Given the description of an element on the screen output the (x, y) to click on. 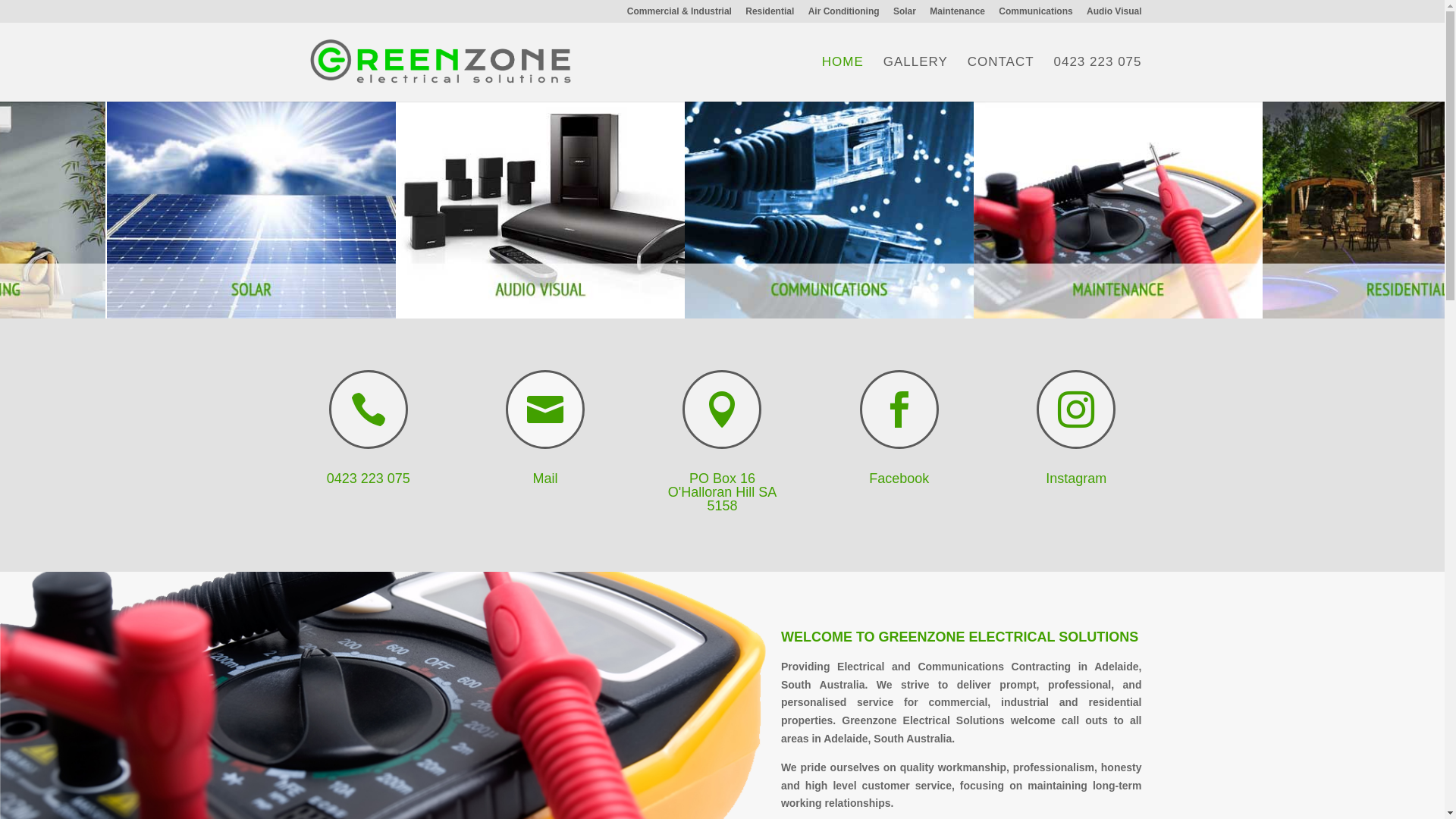
CONTACT Element type: text (1000, 78)
Audio Visual Element type: text (1113, 14)
Mail Element type: text (545, 478)
Residential Element type: text (769, 14)
Solar Element type: text (904, 14)
HOME Element type: text (842, 78)
Commercial & Industrial Element type: text (679, 14)
Facebook Element type: text (898, 478)
GALLERY Element type: text (915, 78)
0423 223 075 Element type: text (368, 478)
0423 223 075 Element type: text (1098, 78)
Communications Element type: text (1035, 14)
Air Conditioning Element type: text (843, 14)
Instagram Element type: text (1075, 478)
Maintenance Element type: text (957, 14)
